Given the description of an element on the screen output the (x, y) to click on. 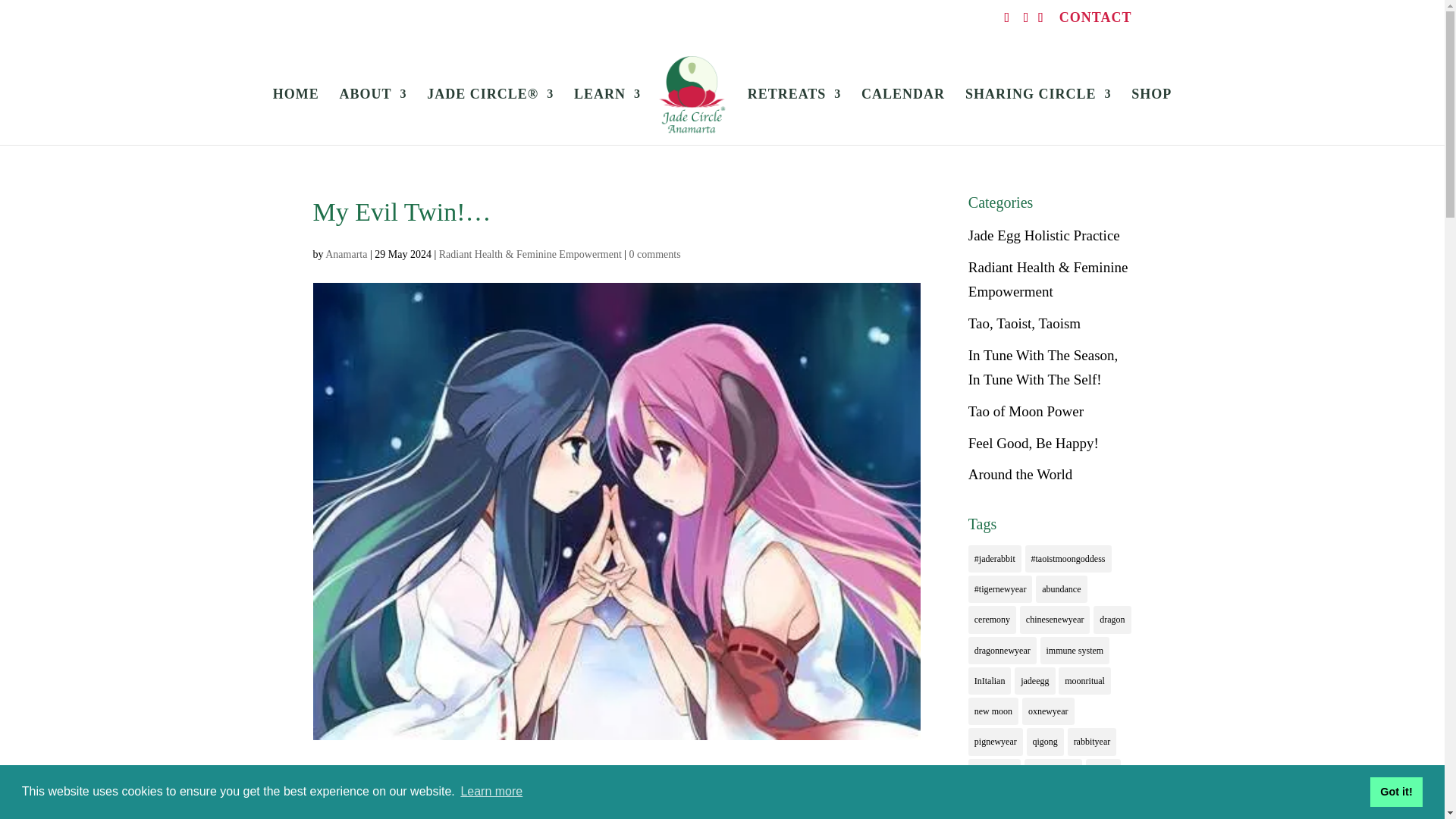
SHARING CIRCLE (1038, 116)
SHOP (1151, 116)
Posts by Anamarta (345, 254)
RETREATS (794, 116)
CALENDAR (902, 116)
HOME (295, 116)
CONTACT (1095, 22)
Learn more (491, 791)
LEARN (606, 116)
Got it! (1396, 791)
ABOUT (373, 116)
